Given the description of an element on the screen output the (x, y) to click on. 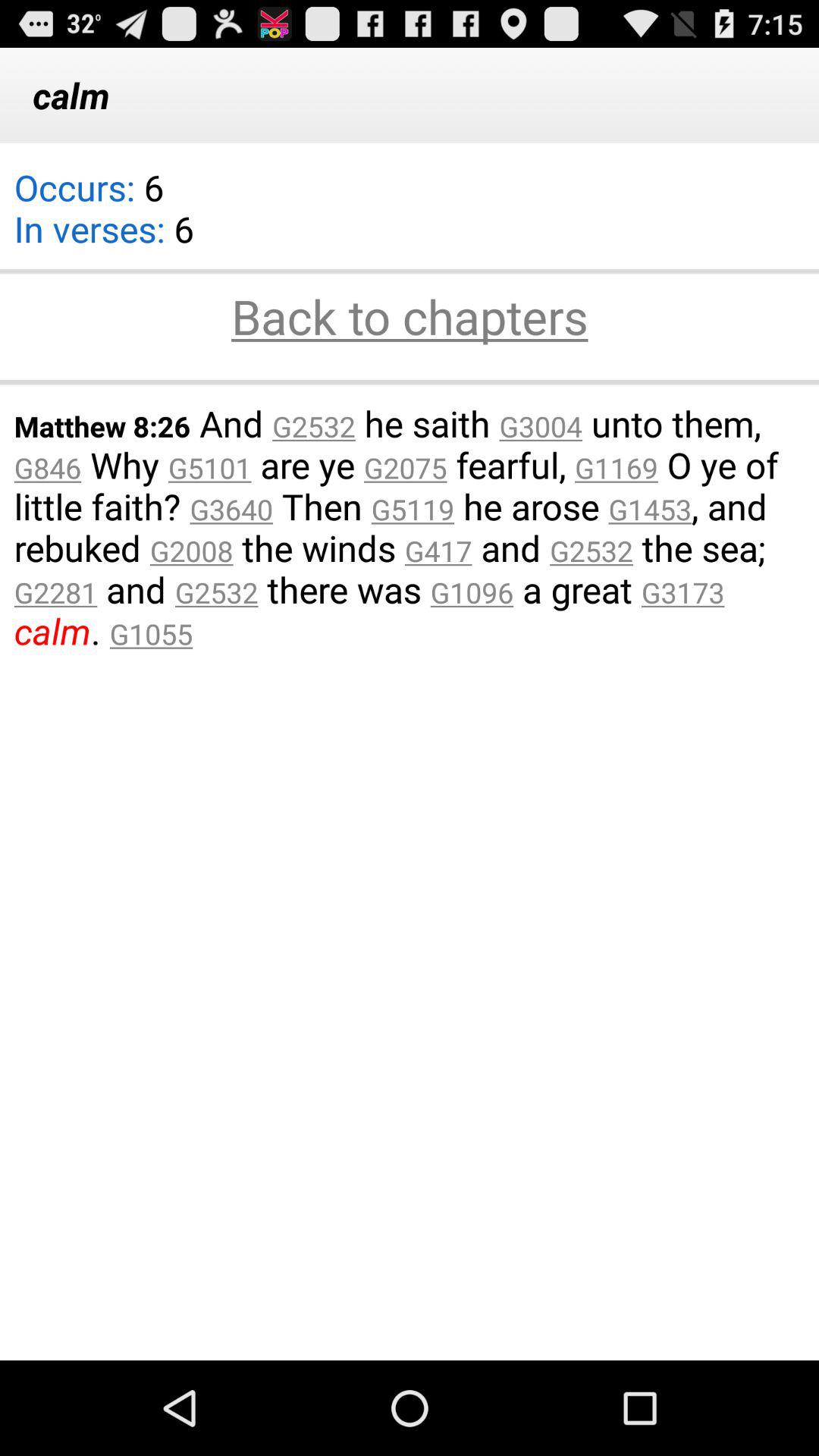
launch the icon below the calm (409, 271)
